Given the description of an element on the screen output the (x, y) to click on. 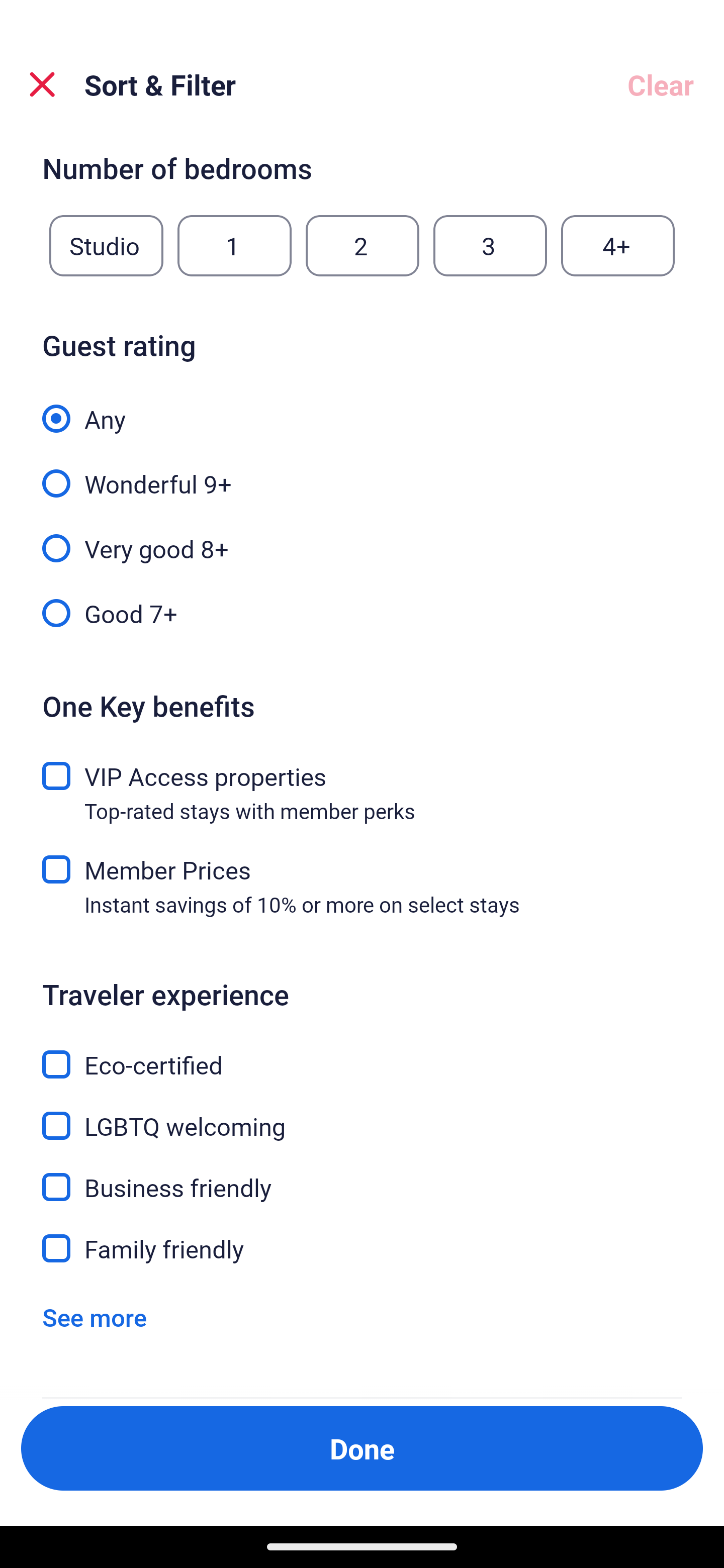
Close Sort and Filter (42, 84)
Clear (660, 84)
Studio (106, 245)
1 (234, 245)
2 (362, 245)
3 (490, 245)
4+ (617, 245)
Wonderful 9+ (361, 472)
Very good 8+ (361, 536)
Good 7+ (361, 611)
Eco-certified, Eco-certified (361, 1052)
LGBTQ welcoming, LGBTQ welcoming (361, 1113)
Business friendly, Business friendly (361, 1175)
Family friendly, Family friendly (361, 1248)
See more See more traveler experience options Link (93, 1316)
Apply and close Sort and Filter Done (361, 1448)
